Given the description of an element on the screen output the (x, y) to click on. 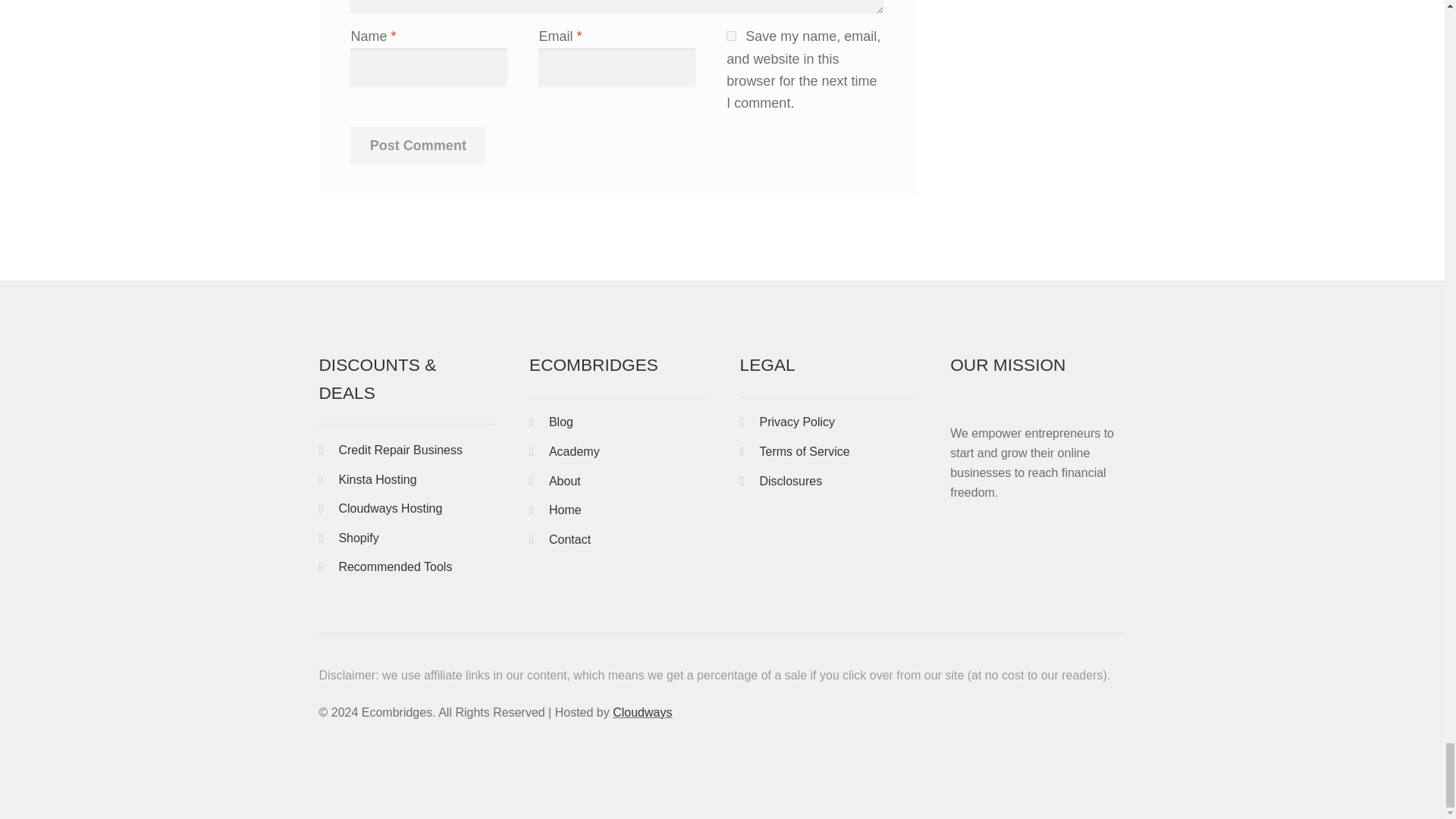
Post Comment (417, 145)
yes (731, 35)
